Given the description of an element on the screen output the (x, y) to click on. 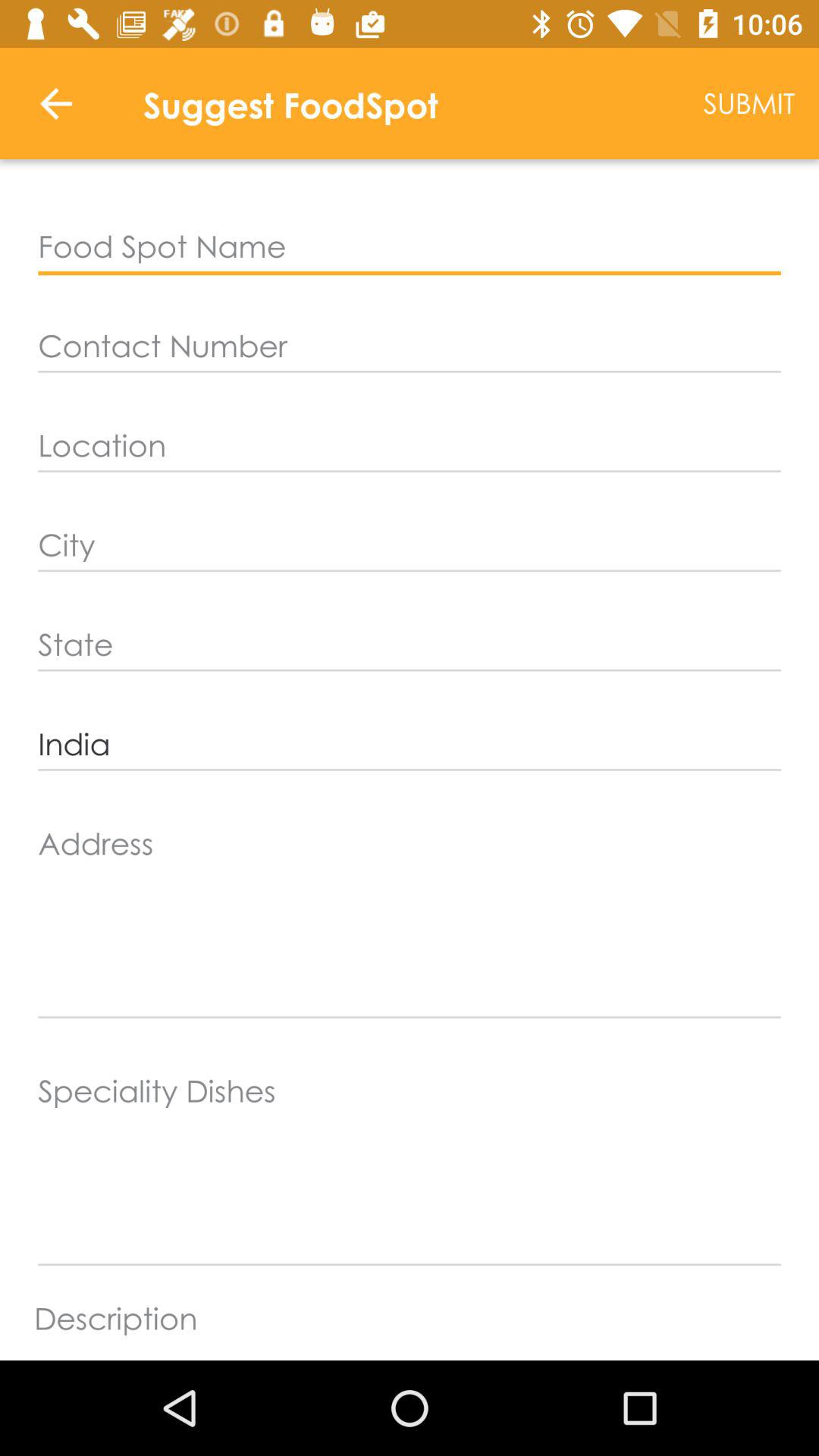
scroll to the india (409, 744)
